Given the description of an element on the screen output the (x, y) to click on. 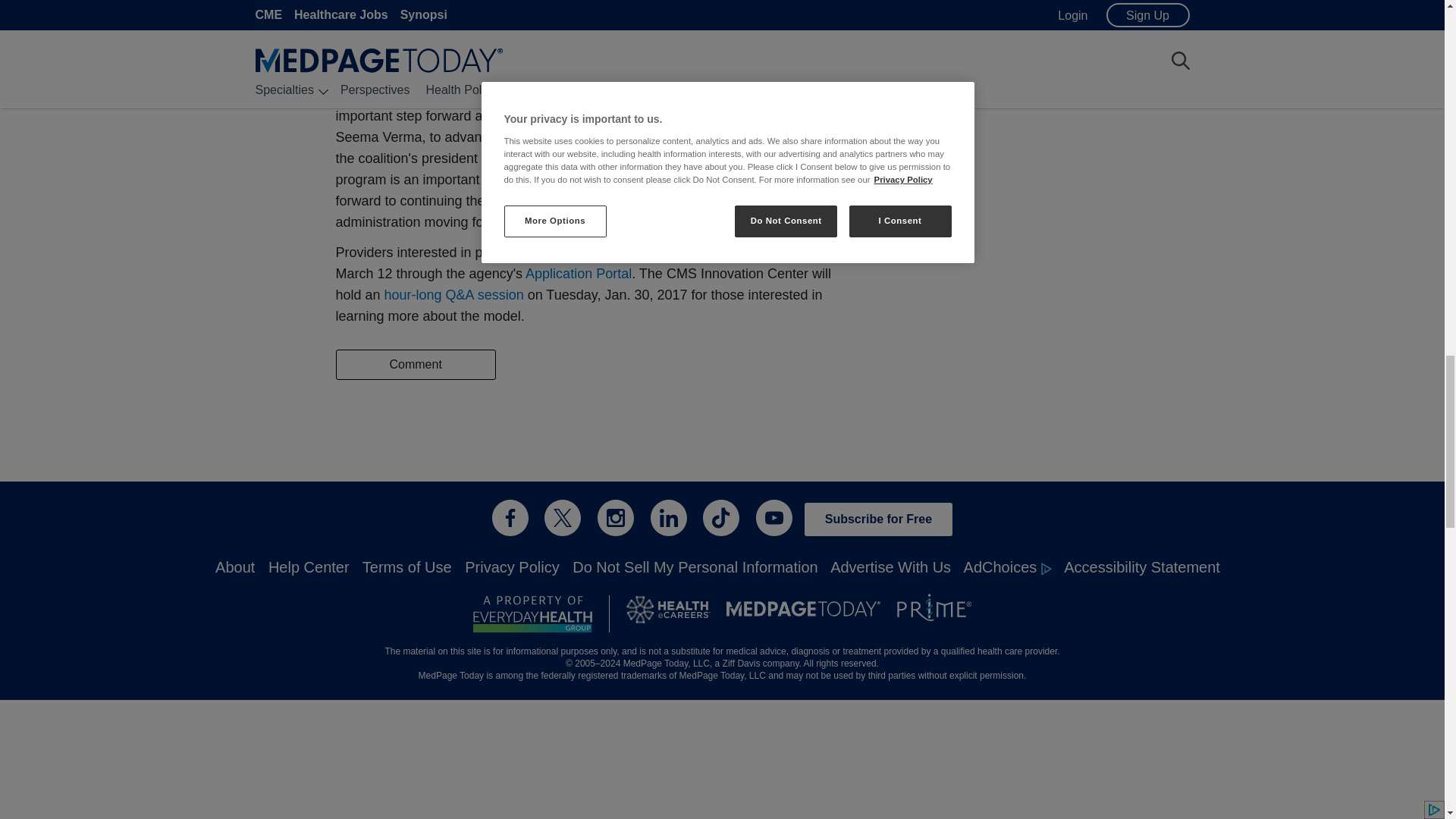
Visit us on Facebook. Opens in a new tab or window (510, 517)
Opens in a new tab or window (454, 294)
Opens in a new tab or window (532, 614)
Visit us on Instagram. Opens in a new tab or window (614, 517)
Visit us on X. Opens in a new tab or window (562, 517)
Visit us on YouTube. Opens in a new tab or window (773, 517)
Visit us on LinkedIn. Opens in a new tab or window (668, 517)
Opens in a new tab or window (578, 273)
Visit us on TikTok. Opens in a new tab or window (721, 517)
